Given the description of an element on the screen output the (x, y) to click on. 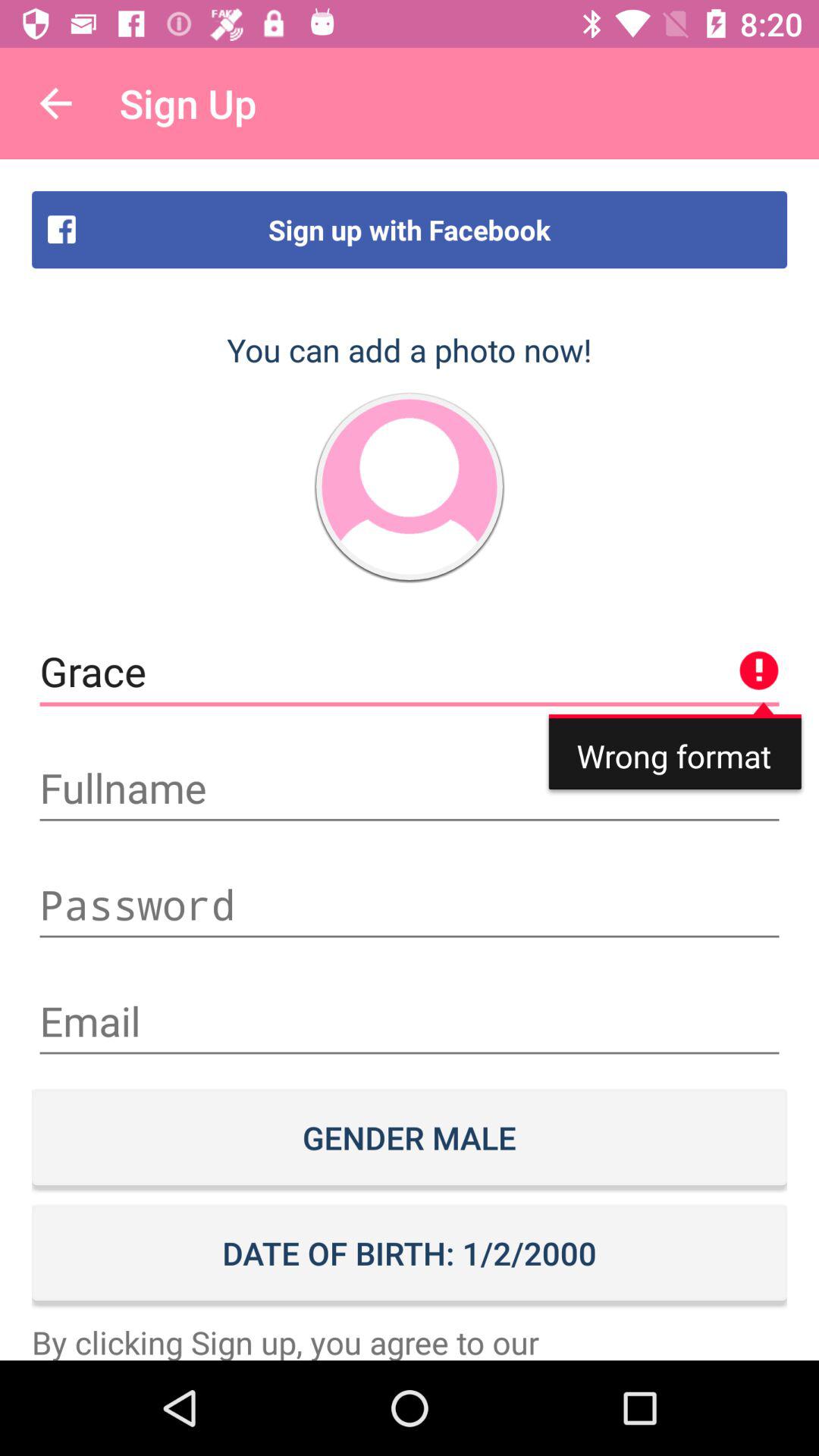
add profile photo (409, 487)
